Given the description of an element on the screen output the (x, y) to click on. 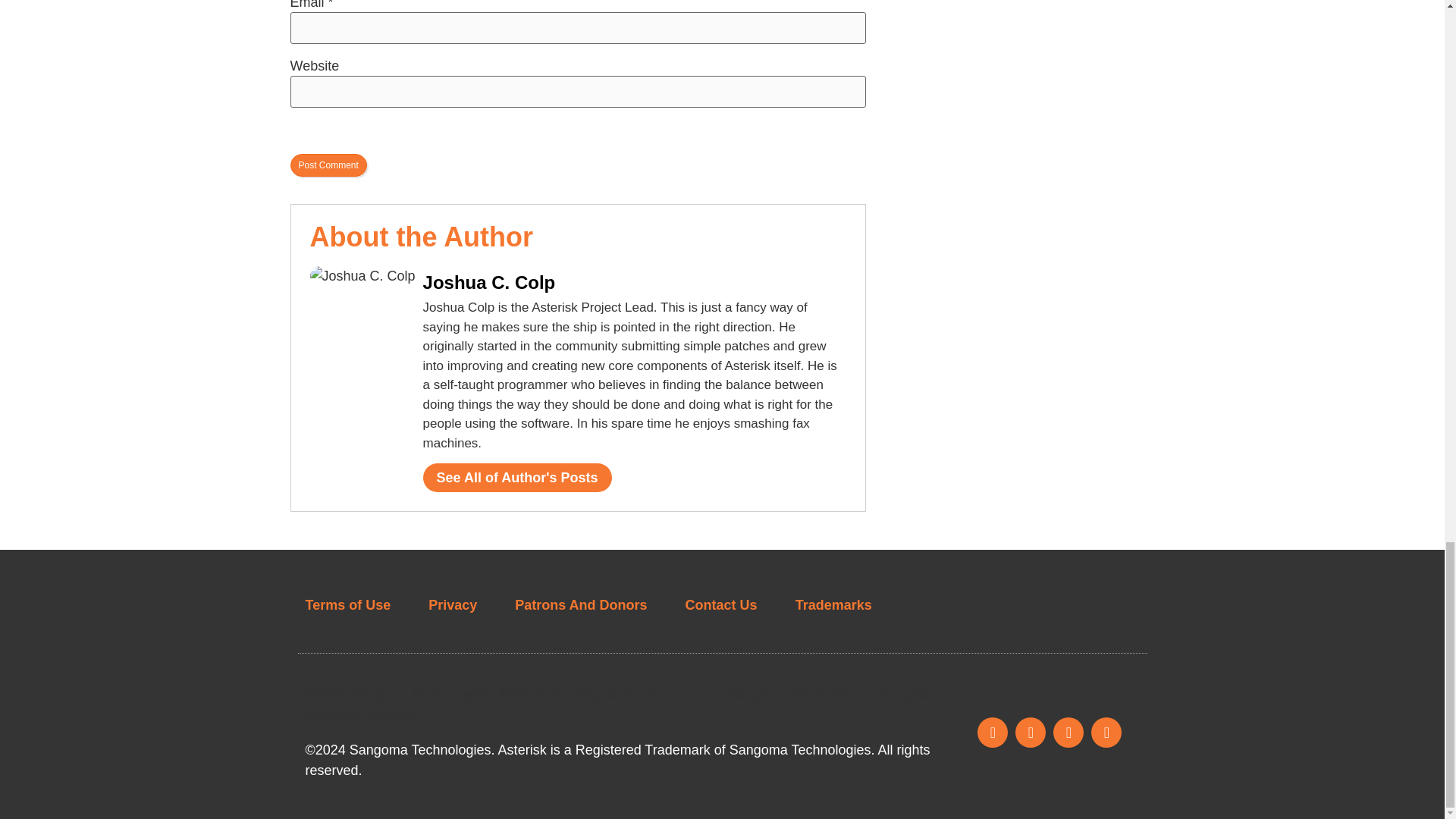
Post Comment (327, 164)
